Given the description of an element on the screen output the (x, y) to click on. 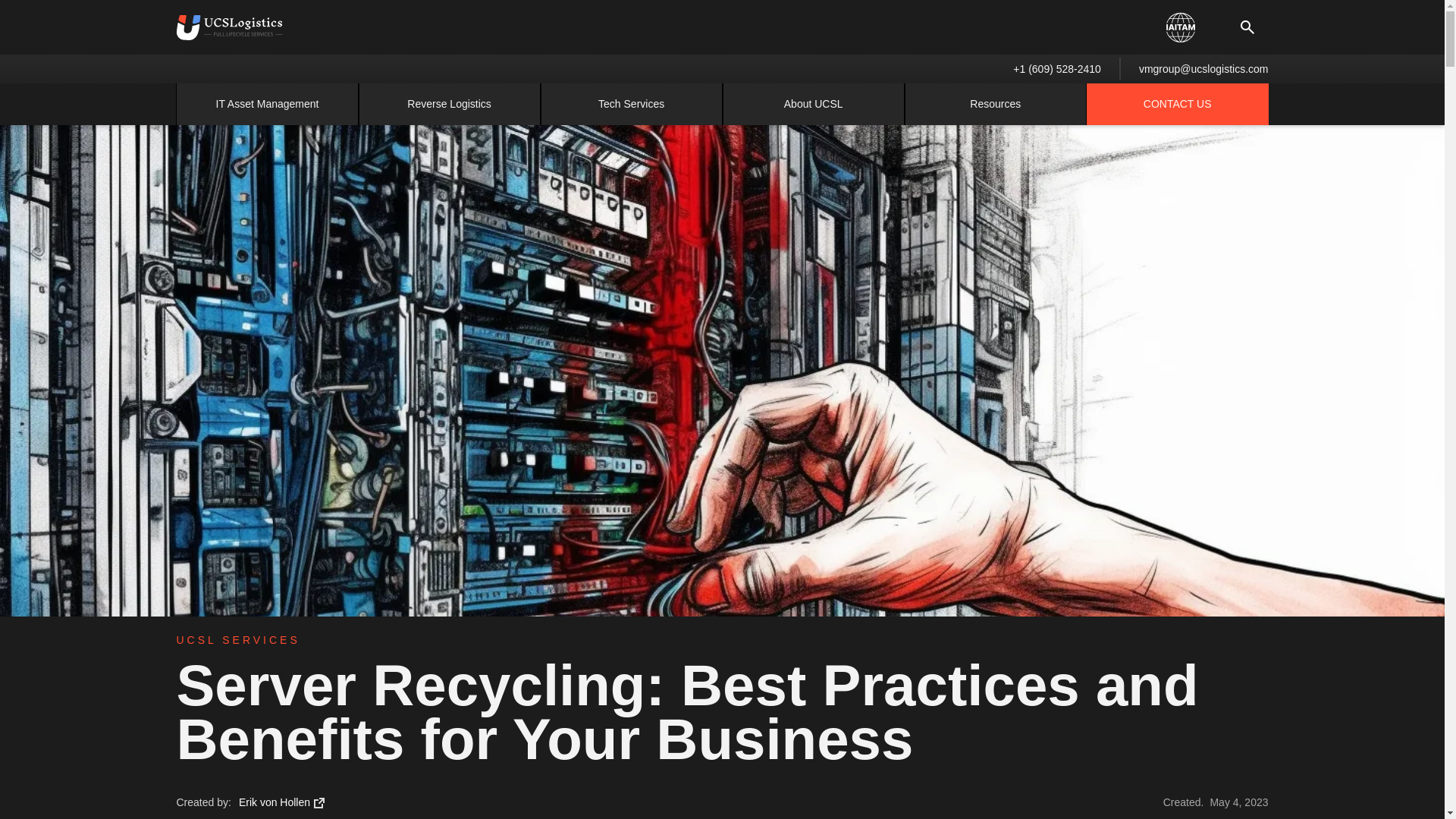
CONTACT US (1177, 103)
Reverse Logistics (449, 103)
Erik von Hollen (283, 802)
IT Asset Management (267, 103)
About UCSL (813, 103)
Tech Services (631, 103)
